Given the description of an element on the screen output the (x, y) to click on. 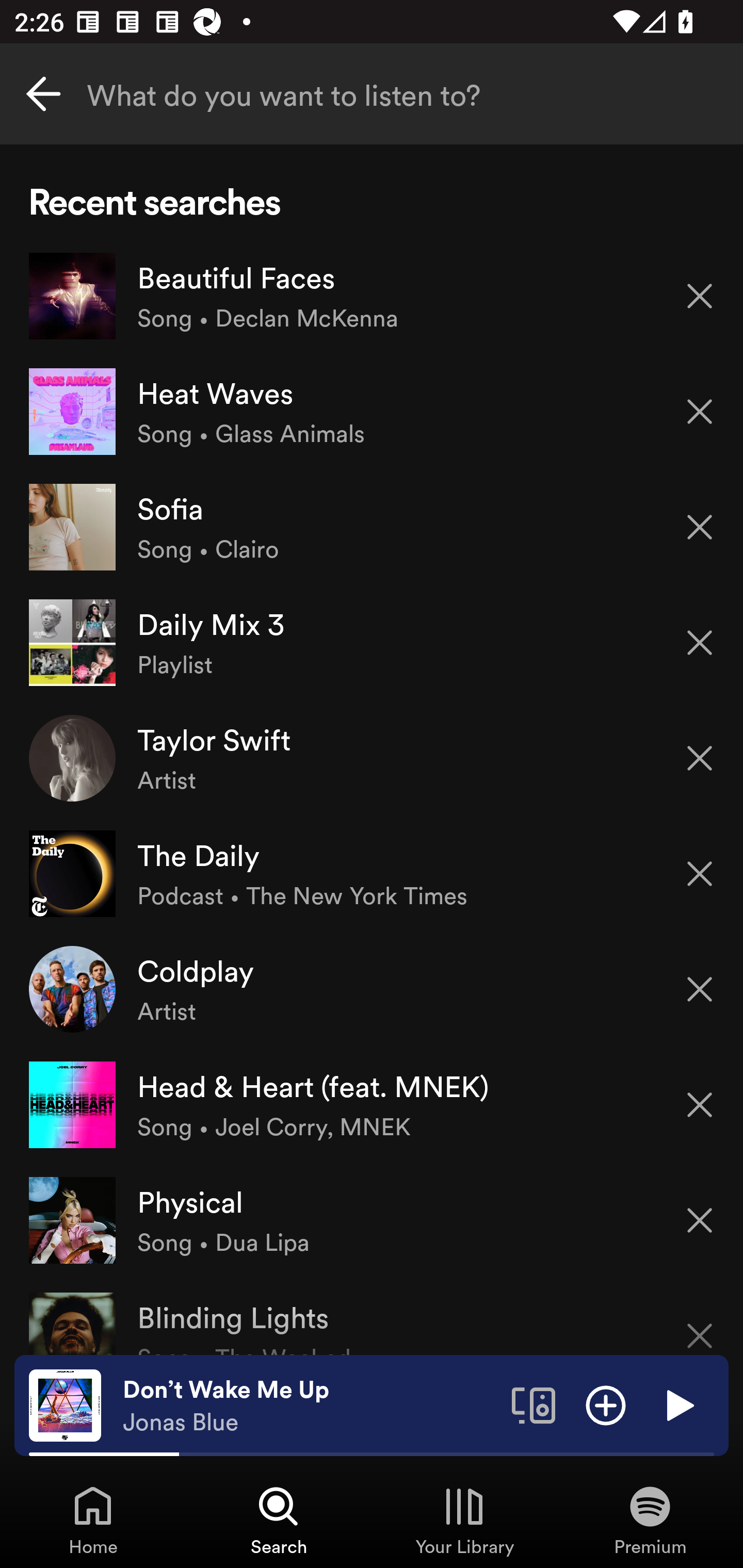
What do you want to listen to? (371, 93)
Cancel (43, 93)
Beautiful Faces Song • Declan McKenna Remove (371, 296)
Remove (699, 295)
Heat Waves Song • Glass Animals Remove (371, 411)
Remove (699, 411)
Sofia Song • Clairo Remove (371, 526)
Remove (699, 527)
Daily Mix 3 Playlist Remove (371, 642)
Remove (699, 642)
Taylor Swift Artist Remove (371, 757)
Remove (699, 758)
The Daily Podcast • The New York Times Remove (371, 873)
Remove (699, 874)
Coldplay Artist Remove (371, 989)
Remove (699, 989)
Remove (699, 1104)
Physical Song • Dua Lipa Remove (371, 1219)
Remove (699, 1220)
Blinding Lights Song • The Weeknd Remove (371, 1315)
Remove (699, 1323)
Don’t Wake Me Up Jonas Blue (309, 1405)
The cover art of the currently playing track (64, 1404)
Connect to a device. Opens the devices menu (533, 1404)
Add item (605, 1404)
Play (677, 1404)
Home, Tab 1 of 4 Home Home (92, 1519)
Search, Tab 2 of 4 Search Search (278, 1519)
Your Library, Tab 3 of 4 Your Library Your Library (464, 1519)
Premium, Tab 4 of 4 Premium Premium (650, 1519)
